Given the description of an element on the screen output the (x, y) to click on. 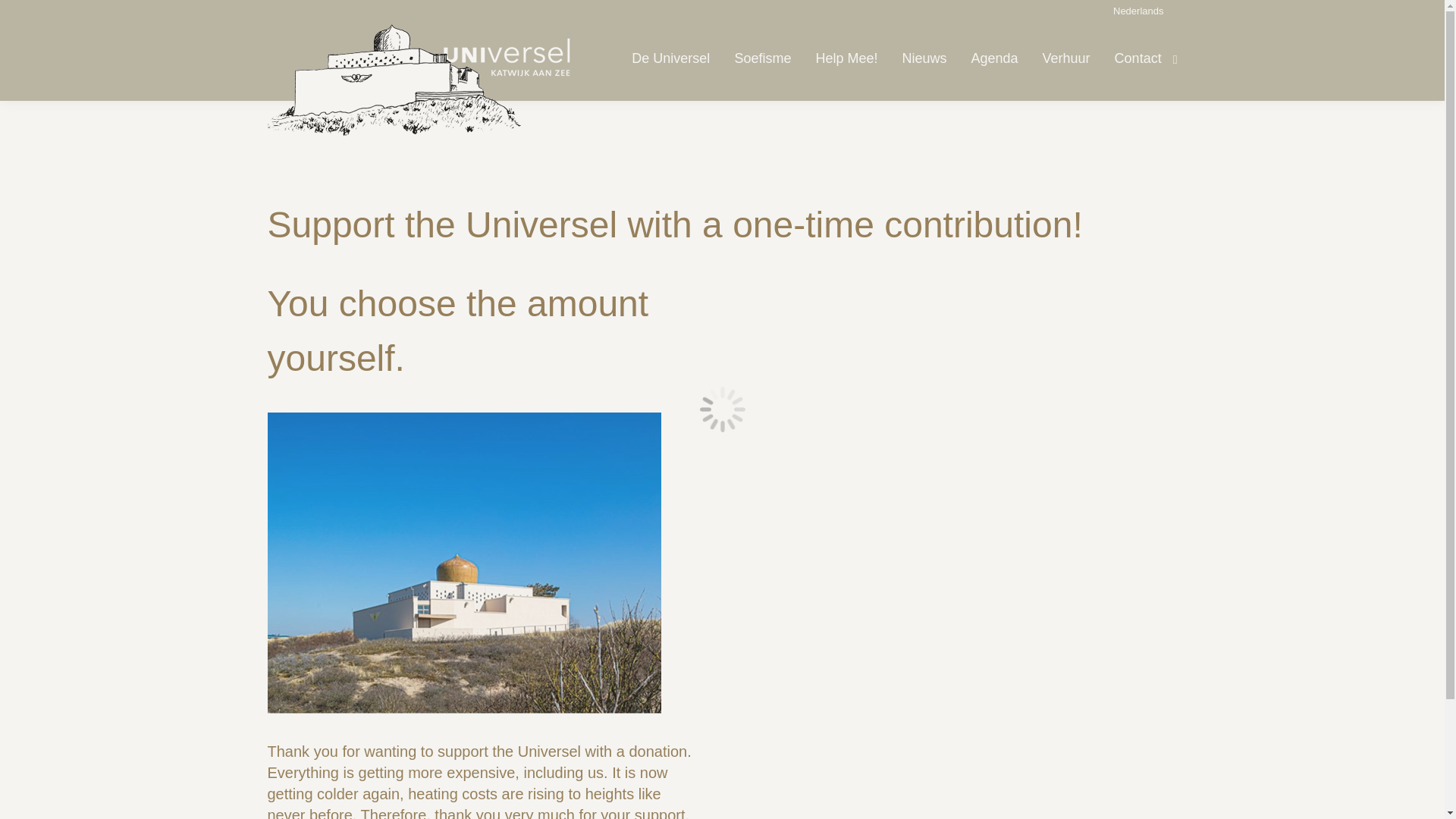
Go! (24, 16)
universel (463, 563)
Nederlands (1138, 9)
De Universel (670, 59)
Help Mee! (846, 59)
